Given the description of an element on the screen output the (x, y) to click on. 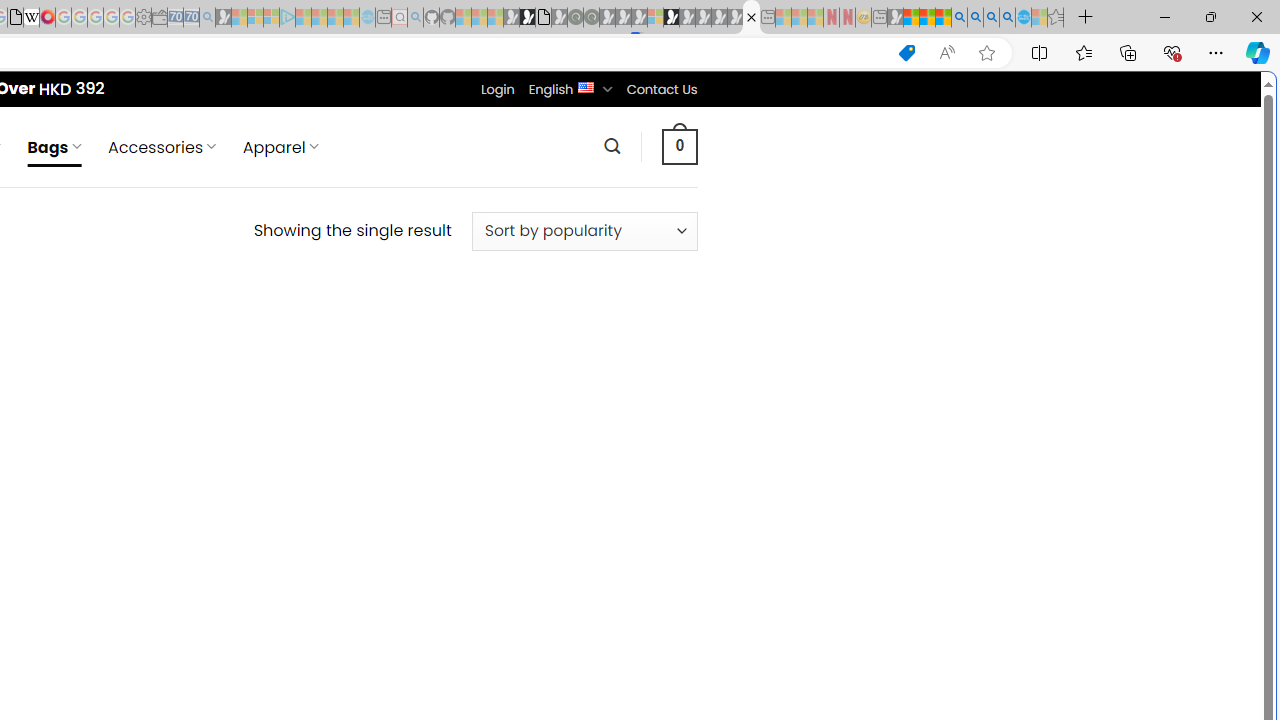
MediaWiki (47, 17)
